Given the description of an element on the screen output the (x, y) to click on. 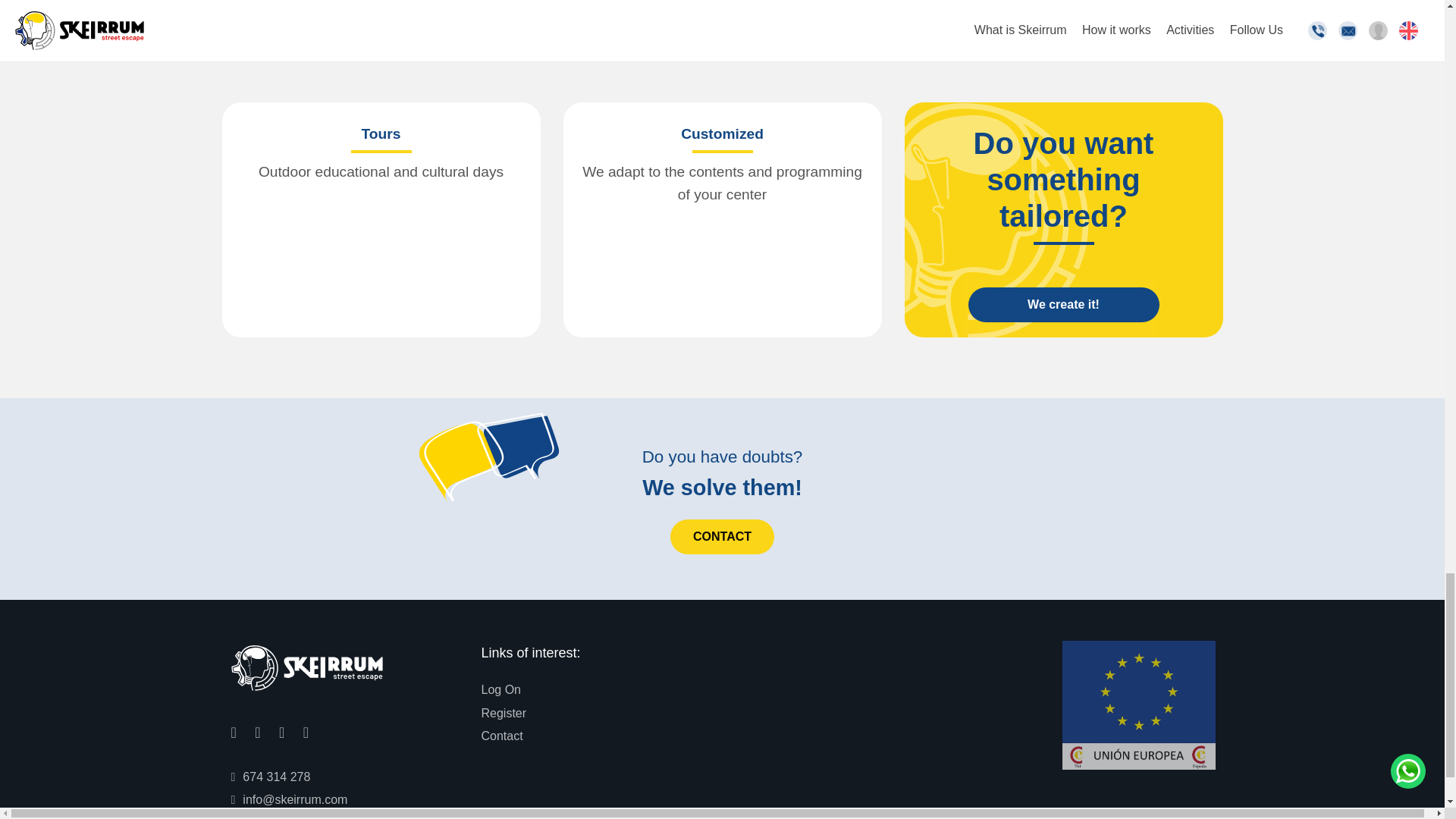
CONTACT (721, 536)
We create it! (1063, 304)
Register (502, 713)
674 314 278 (270, 777)
Log On (499, 690)
Contact (501, 736)
